Given the description of an element on the screen output the (x, y) to click on. 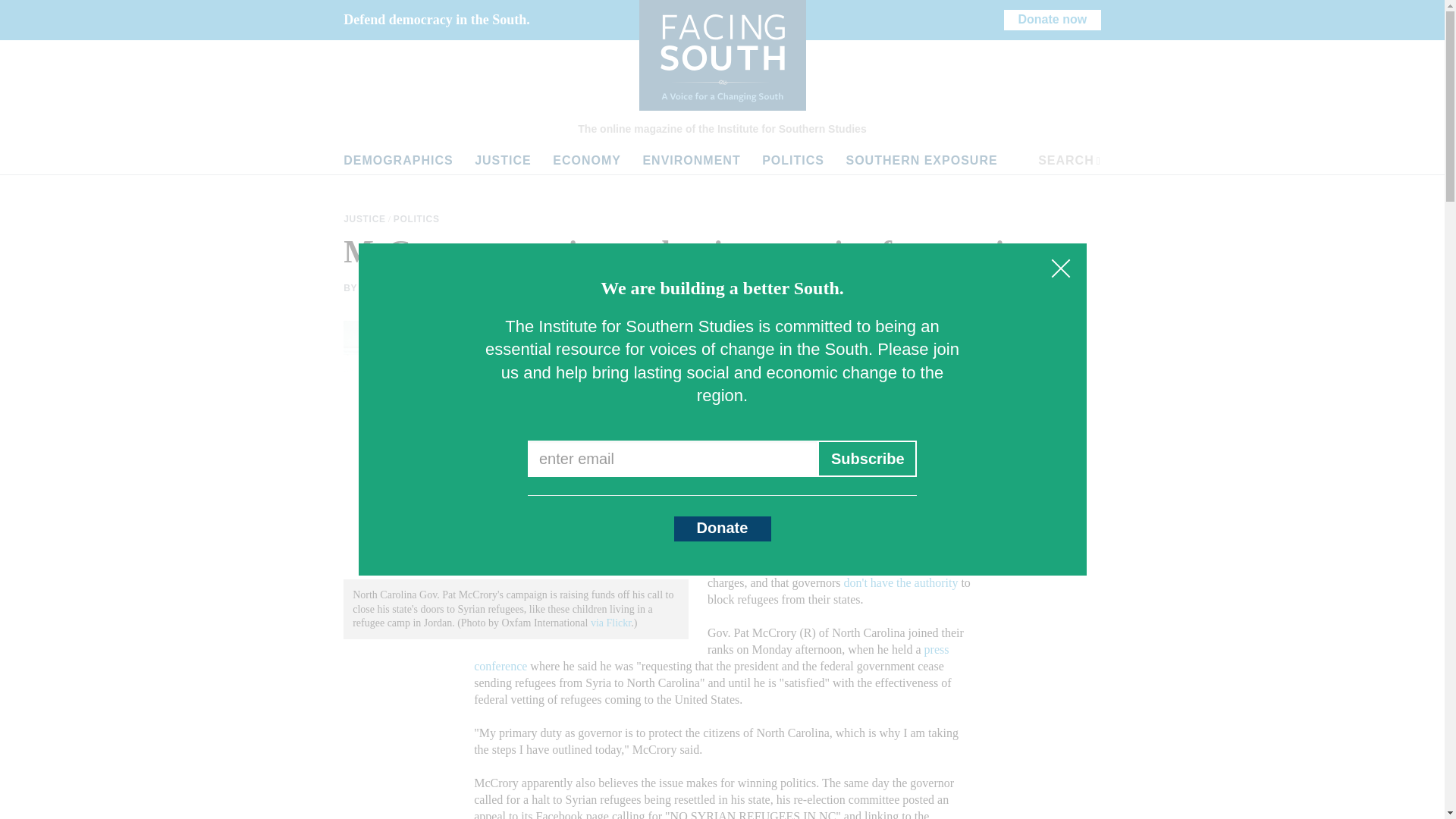
POLITICS (416, 219)
plan to accept at least 10,000 refugees (829, 473)
intensive vetting process (880, 532)
SOUTHERN EXPOSURE (920, 160)
Donate now (1052, 19)
ECONOMY (586, 160)
JUSTICE (365, 219)
almost all of them Republicans (880, 449)
press conference (711, 657)
